Given the description of an element on the screen output the (x, y) to click on. 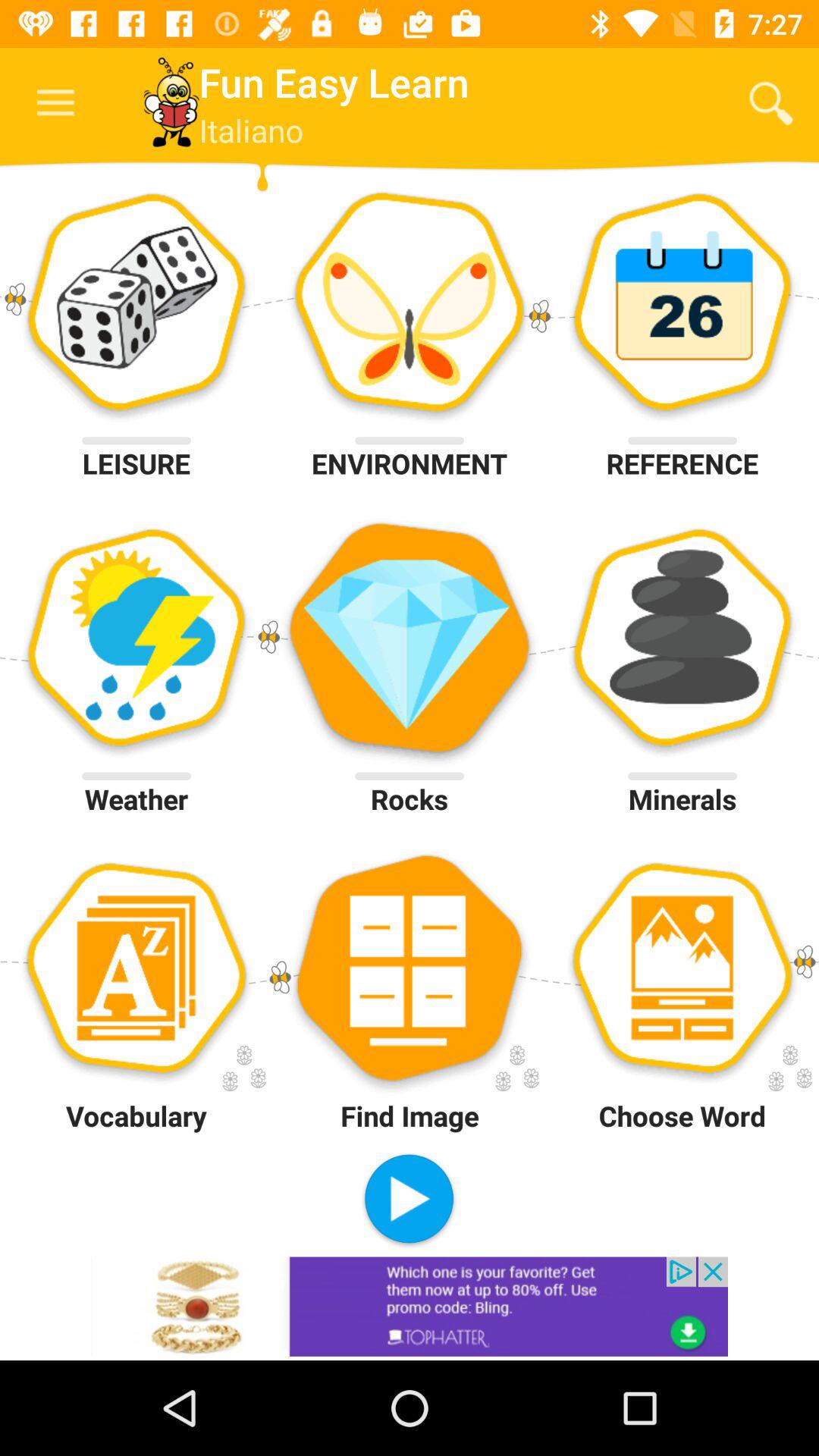
click on advertisement (409, 1306)
